Given the description of an element on the screen output the (x, y) to click on. 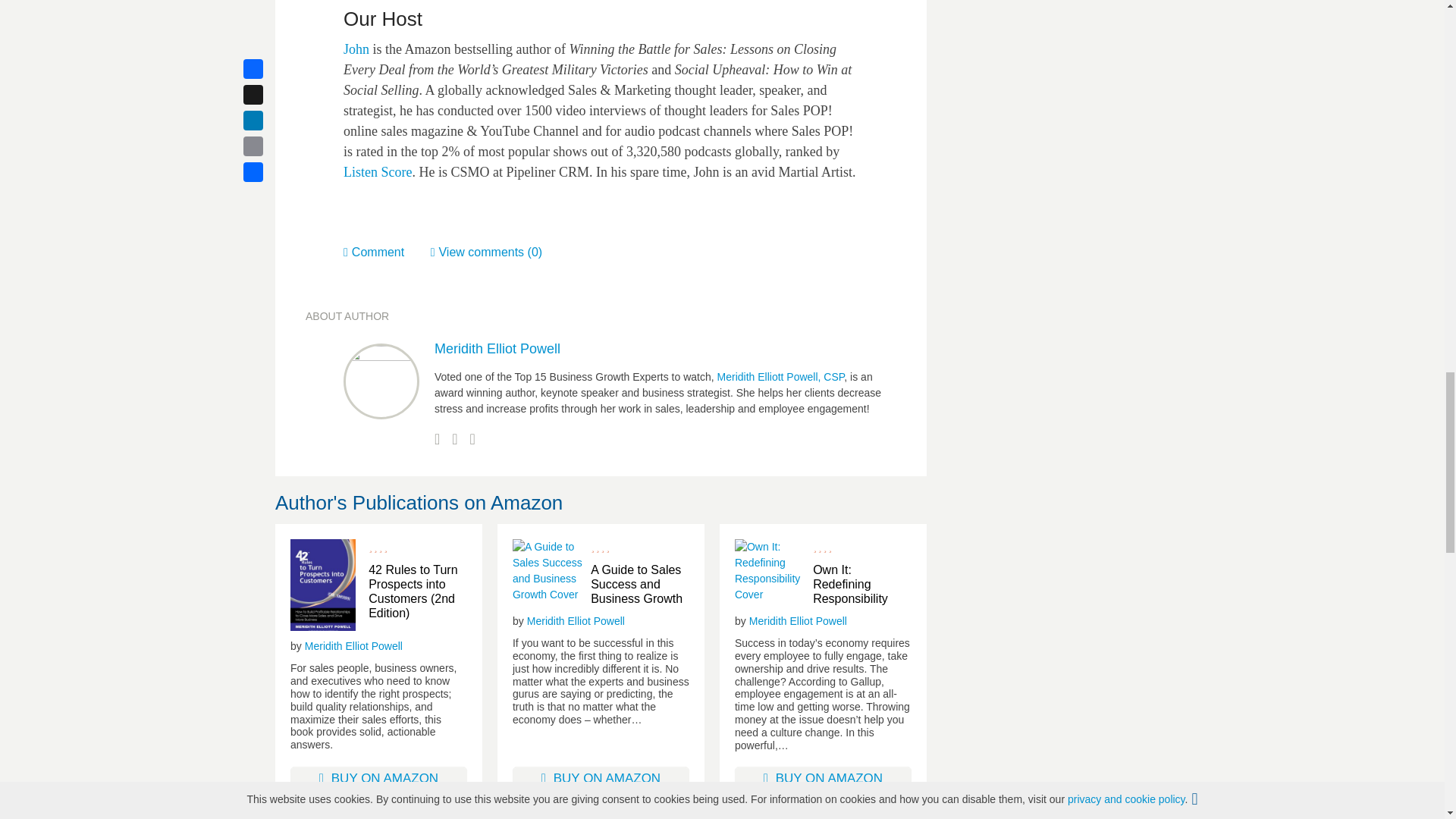
Meridith Elliott Powell, CSP (780, 377)
Listen Score (377, 171)
Meridith Elliot Powell (496, 348)
Meridith Elliot Powell (353, 646)
John (356, 48)
Comment (386, 251)
